Given the description of an element on the screen output the (x, y) to click on. 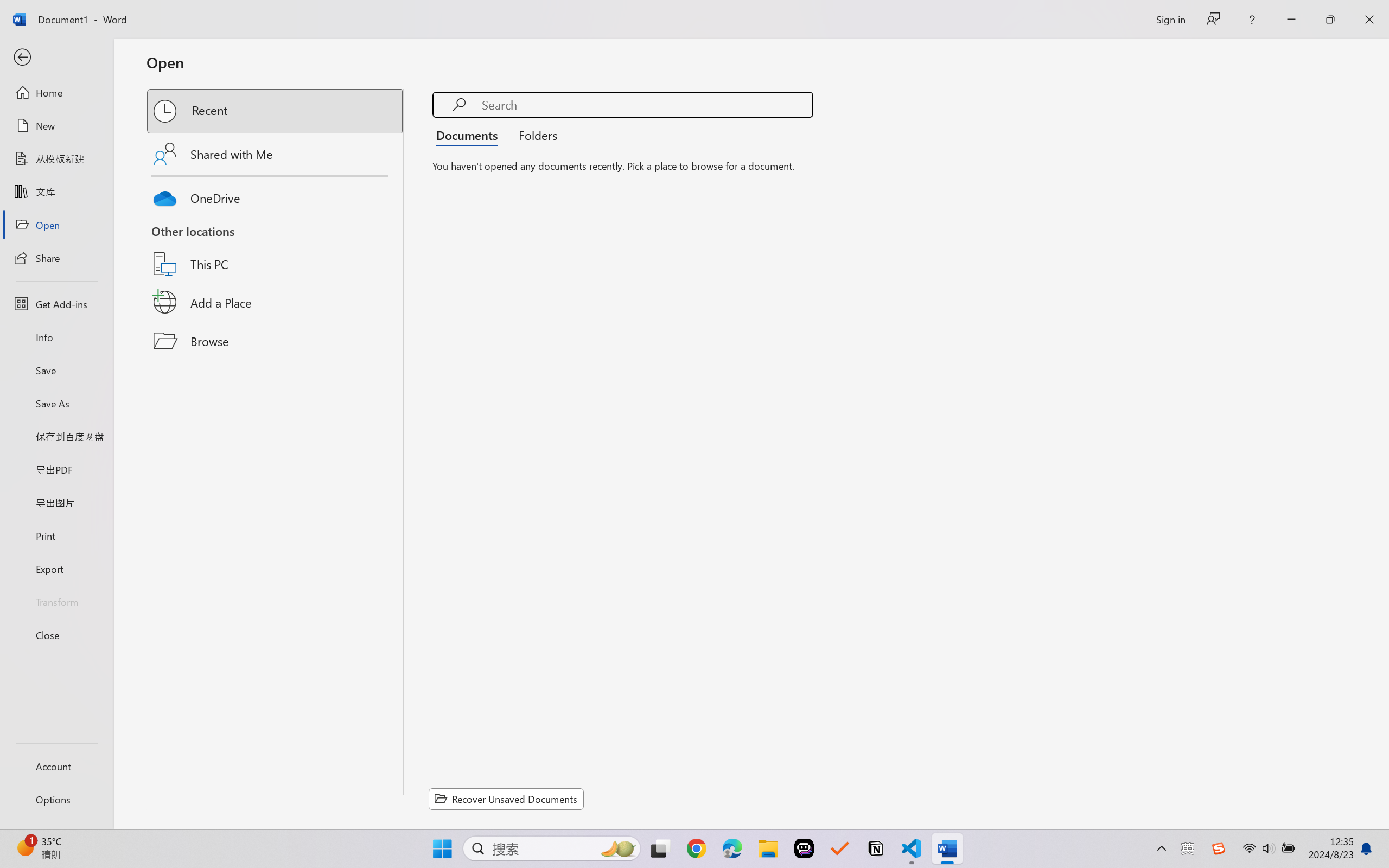
Export (56, 568)
This PC (275, 249)
Info (56, 337)
Back (56, 57)
Add a Place (275, 302)
Shared with Me (275, 153)
Print (56, 535)
Options (56, 798)
